Given the description of an element on the screen output the (x, y) to click on. 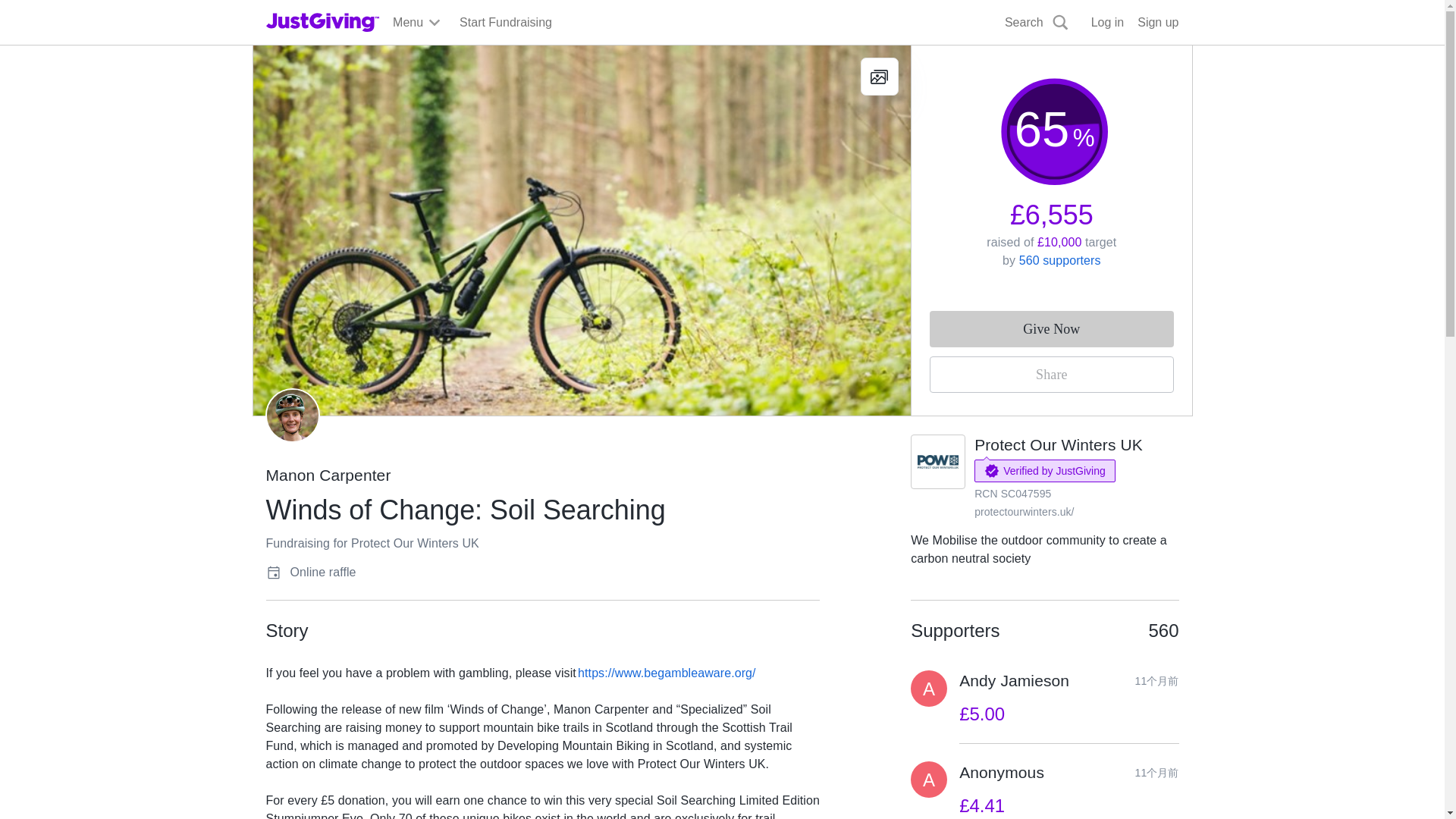
A (929, 688)
Search (1036, 22)
Share (1051, 374)
A (929, 779)
Protect Our Winters UK (1058, 444)
Search (919, 57)
Sign up (1157, 22)
Menu (416, 22)
560 supporters (1059, 259)
Start Fundraising (505, 22)
Log in (1107, 22)
